Given the description of an element on the screen output the (x, y) to click on. 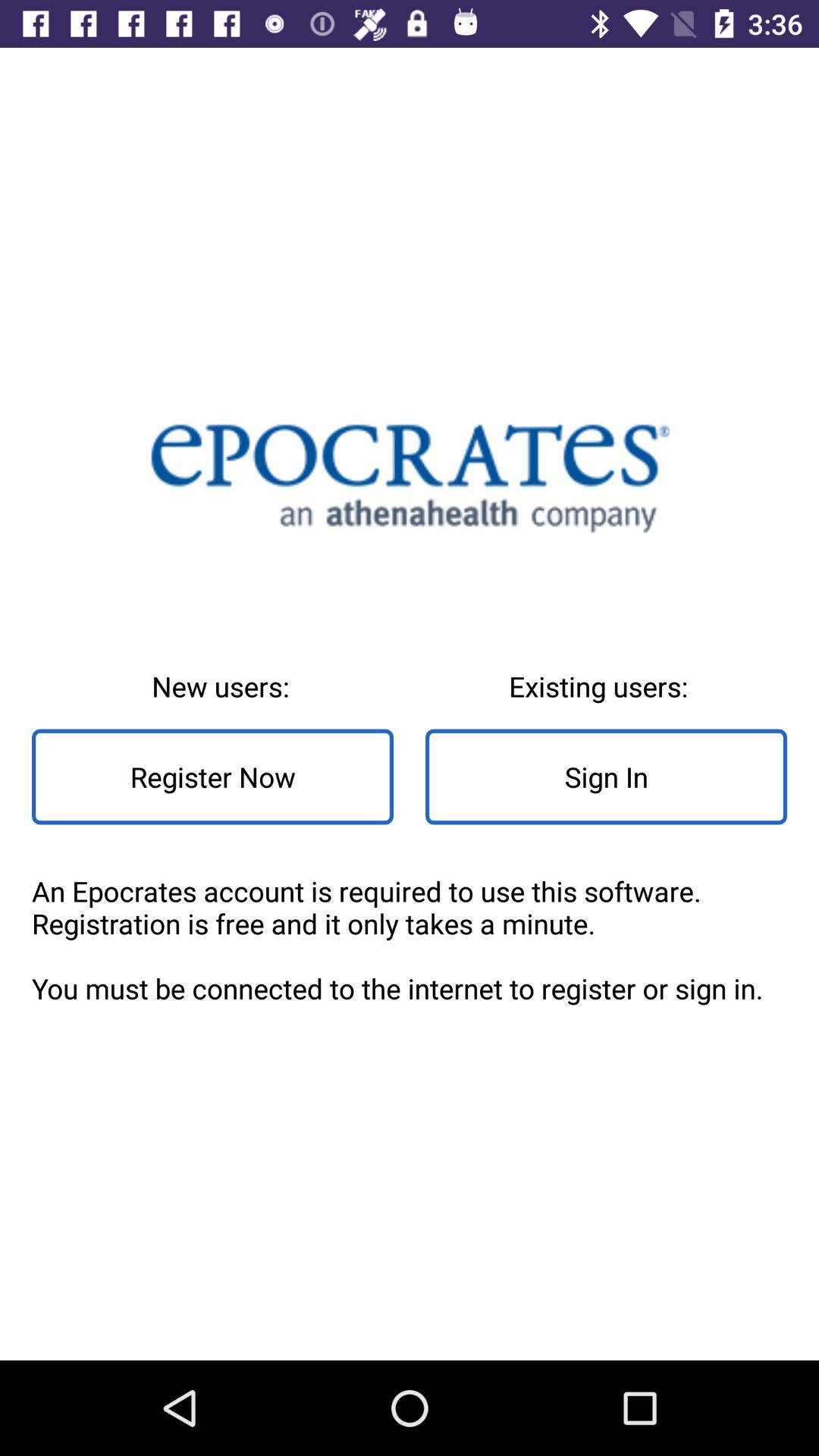
tap the icon next to the new users: icon (606, 776)
